Given the description of an element on the screen output the (x, y) to click on. 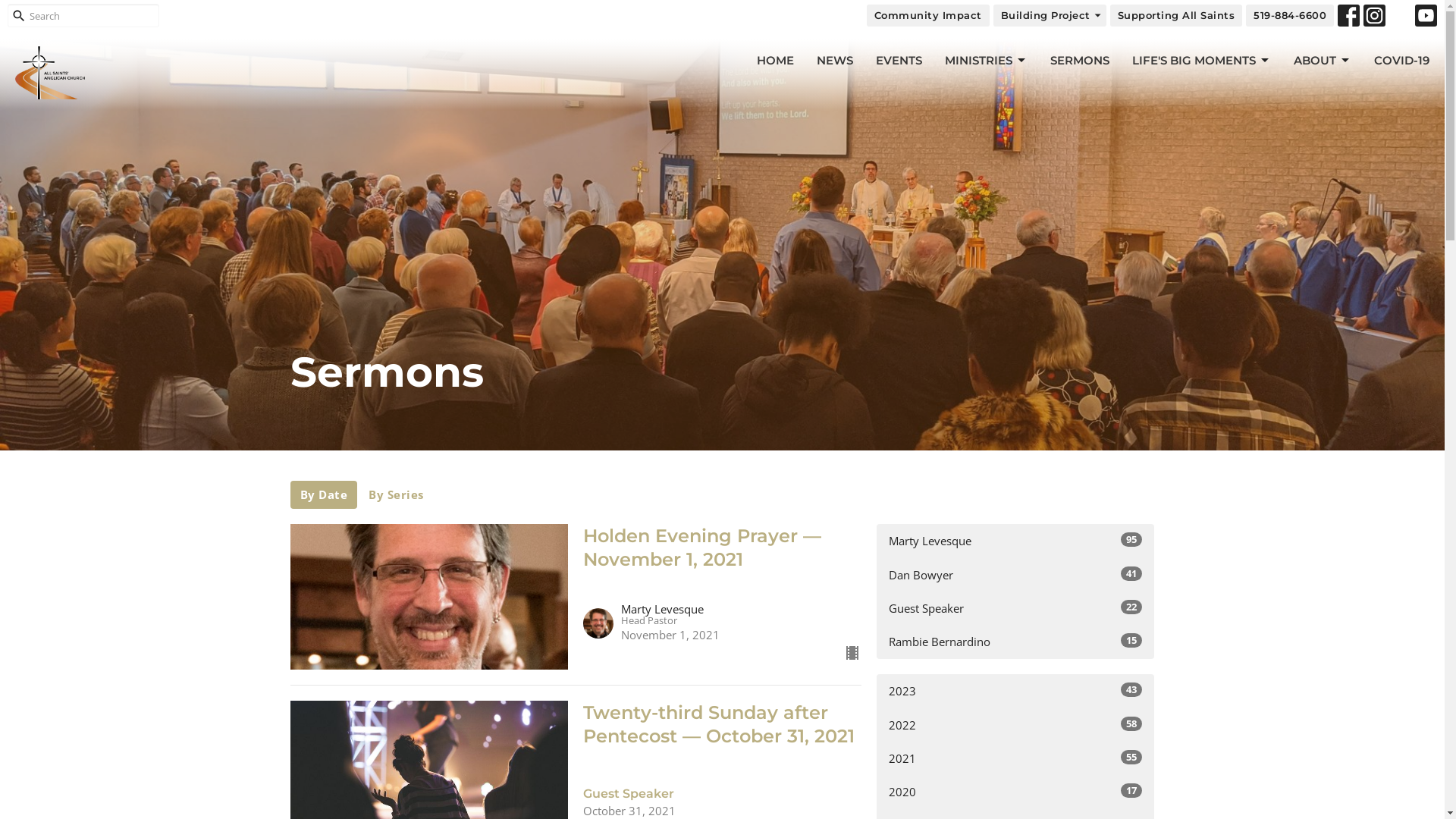
EVENTS Element type: text (898, 59)
NEWS Element type: text (834, 59)
2023
43 Element type: text (1015, 691)
2020
17 Element type: text (1015, 792)
Building Project Element type: text (1049, 15)
Rambie Bernardino
15 Element type: text (1015, 641)
COVID-19 Element type: text (1401, 59)
MINISTRIES Element type: text (985, 59)
ABOUT Element type: text (1322, 59)
Supporting All Saints Element type: text (1176, 15)
Community Impact Element type: text (927, 15)
519-884-6600 Element type: text (1289, 15)
By Date Element type: text (323, 494)
2022
58 Element type: text (1015, 725)
2021
55 Element type: text (1015, 758)
Marty Levesque
95 Element type: text (1015, 541)
By Series Element type: text (395, 494)
HOME Element type: text (774, 59)
Dan Bowyer
41 Element type: text (1015, 575)
Guest Speaker
22 Element type: text (1015, 608)
SERMONS Element type: text (1079, 59)
LIFE'S BIG MOMENTS Element type: text (1201, 59)
